Given the description of an element on the screen output the (x, y) to click on. 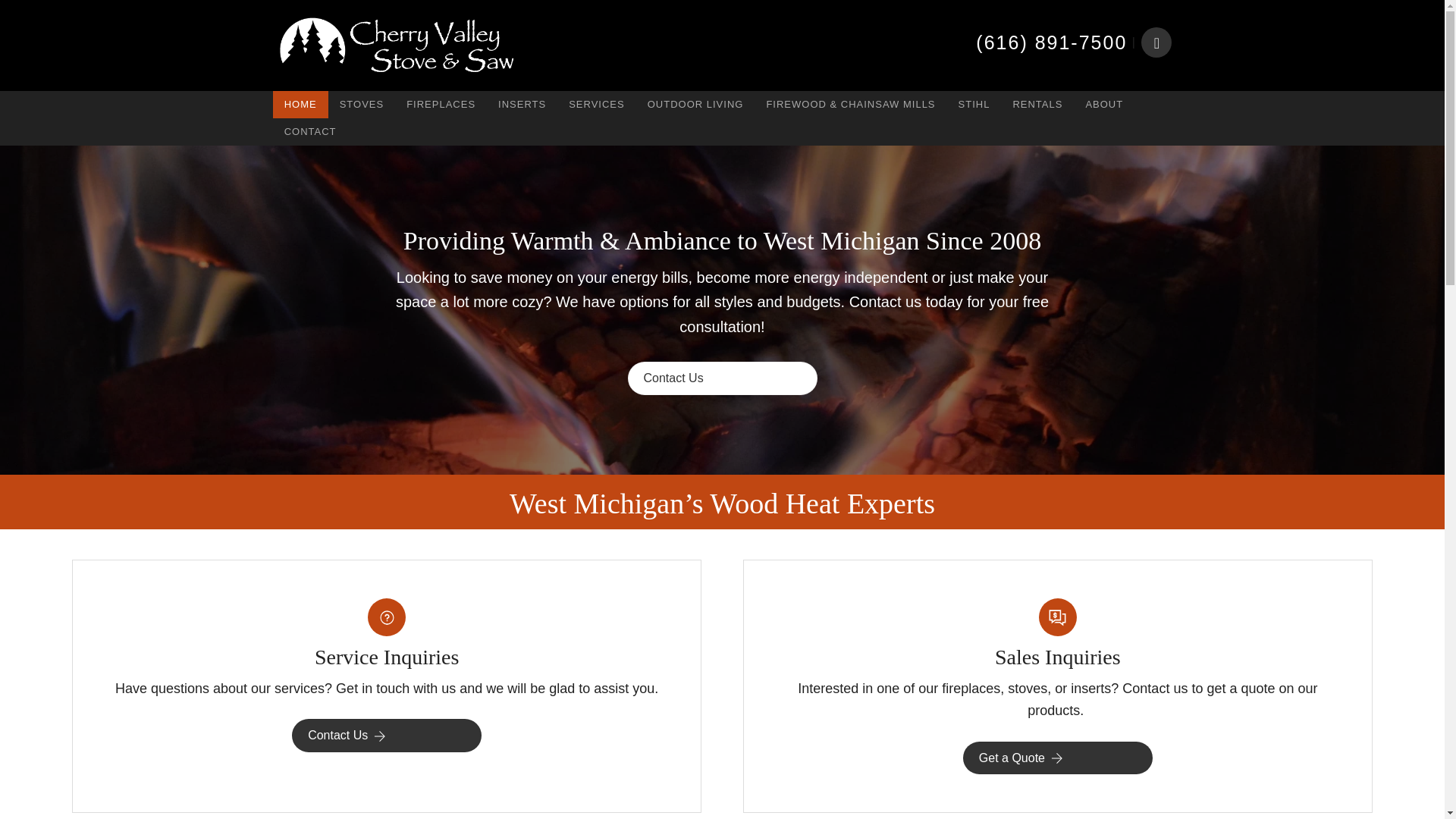
FIREPLACES (440, 103)
INSERTS (521, 103)
HOME (301, 103)
STIHL (974, 103)
SERVICES (596, 103)
STOVES (362, 103)
Contact Us (386, 735)
OUTDOOR LIVING (695, 103)
RENTALS (1037, 103)
ABOUT (1104, 103)
